Given the description of an element on the screen output the (x, y) to click on. 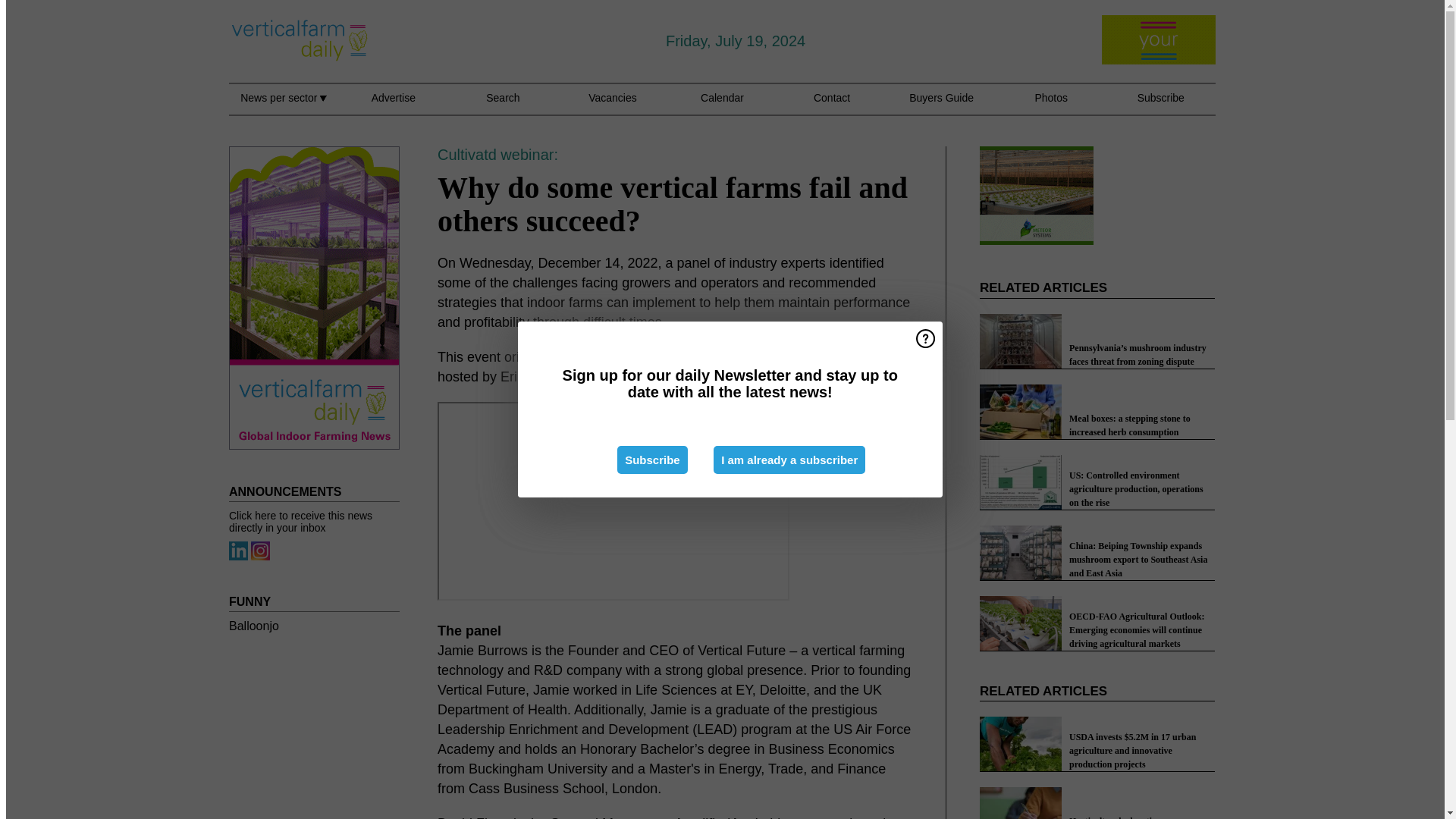
Advertise (392, 106)
Search (502, 106)
I am already a subscriber (788, 459)
News per sector (283, 106)
Subscribe (652, 459)
